Given the description of an element on the screen output the (x, y) to click on. 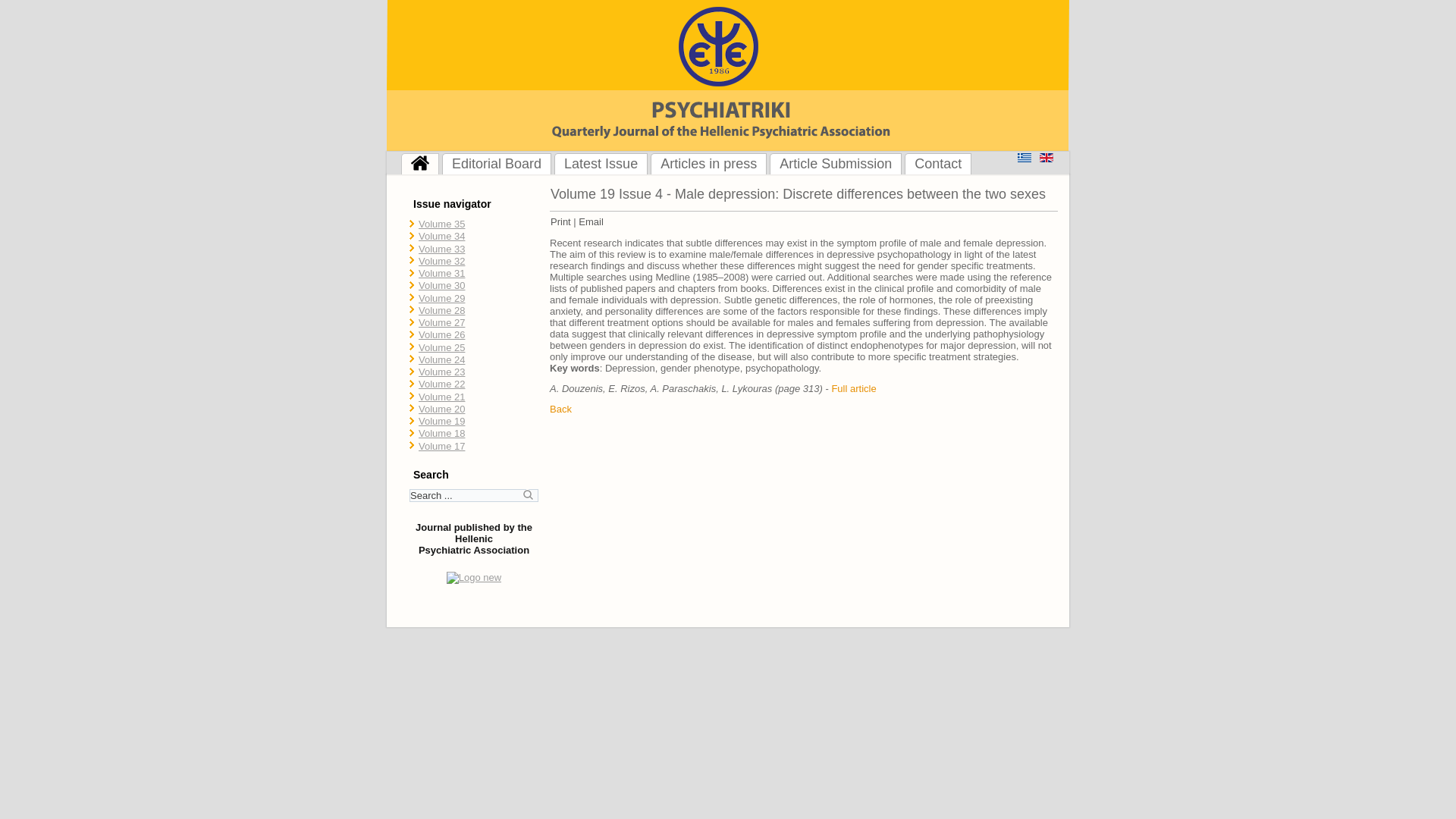
Volume 31 (441, 273)
Email (591, 221)
Volume 24 (441, 359)
Volume 27 (441, 322)
Email this link to a friend (591, 221)
Volume 20 (441, 408)
Search ... (473, 495)
Volume 26 (441, 334)
Volume 32 (441, 260)
Volume 33 (441, 247)
